Given the description of an element on the screen output the (x, y) to click on. 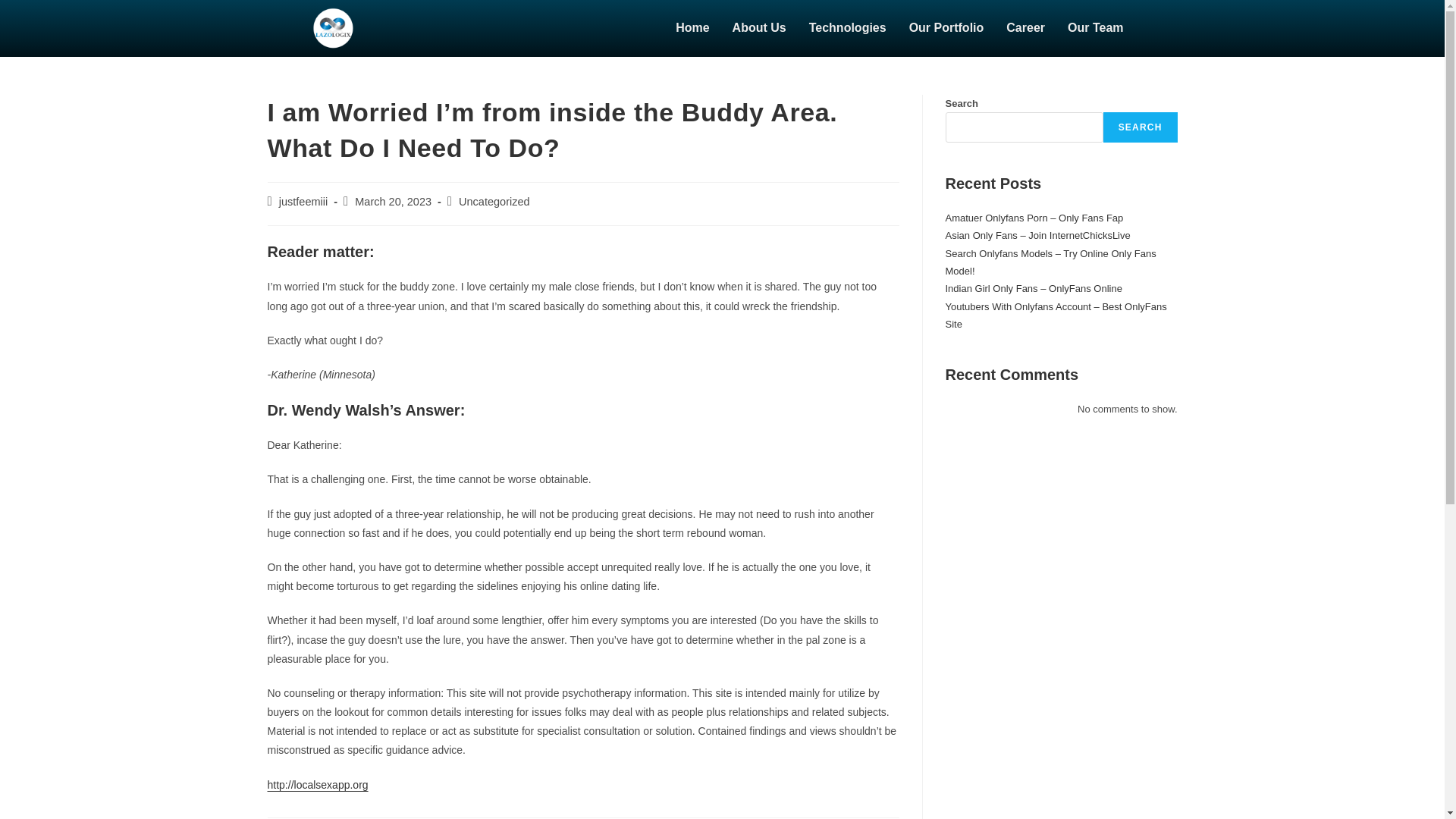
SEARCH (1140, 127)
Our Team (1096, 27)
Technologies (847, 27)
justfeemiii (303, 201)
Our Portfolio (946, 27)
Uncategorized (493, 201)
About Us (758, 27)
Posts by justfeemiii (303, 201)
Career (1025, 27)
Home (691, 27)
